Given the description of an element on the screen output the (x, y) to click on. 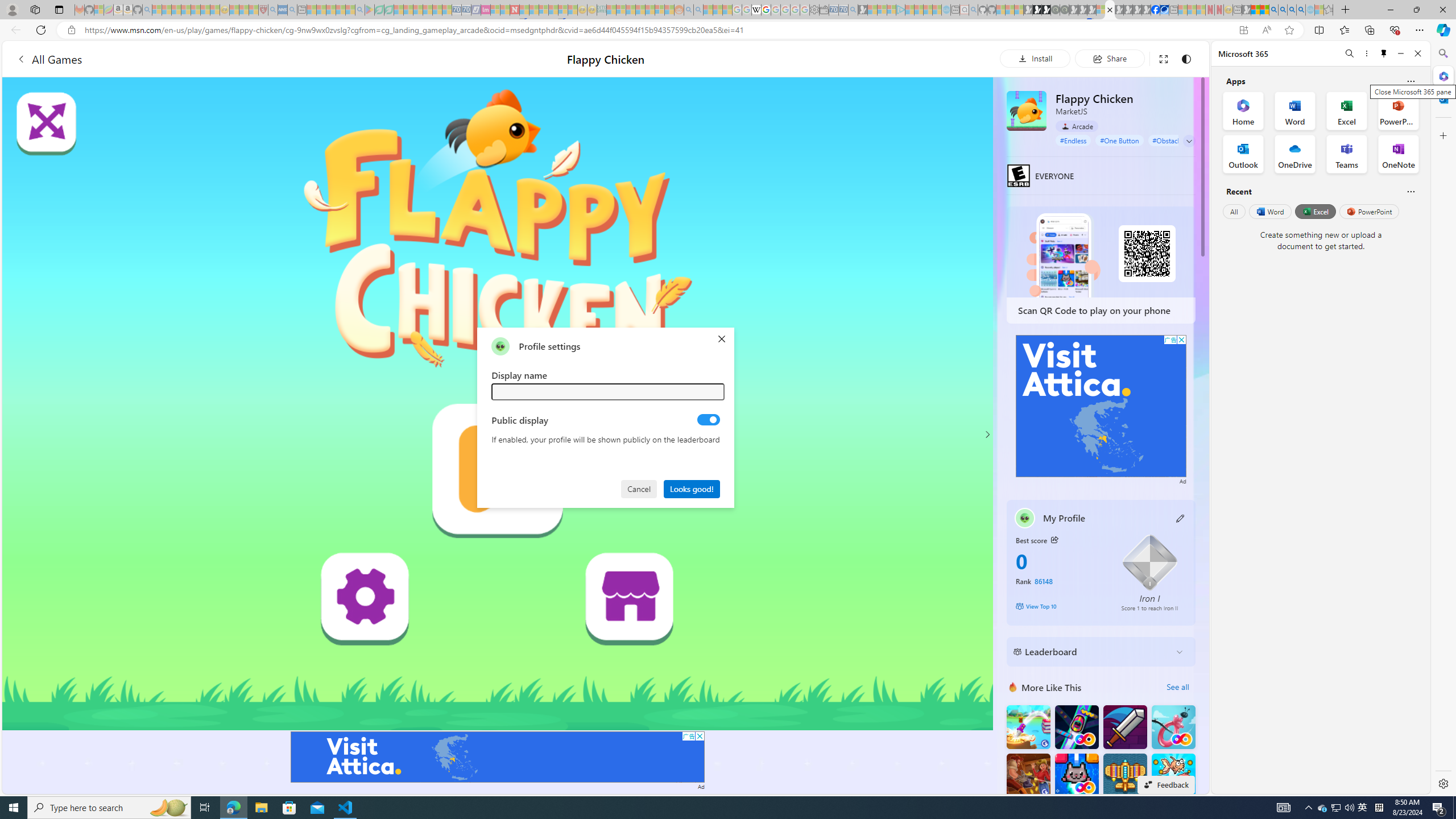
utah sues federal government - Search - Sleeping (291, 9)
Jobs - lastminute.com Investor Portal - Sleeping (485, 9)
Share (1109, 58)
Target page - Wikipedia (755, 9)
EVERYONE (1018, 175)
Cancel (639, 488)
